Given the description of an element on the screen output the (x, y) to click on. 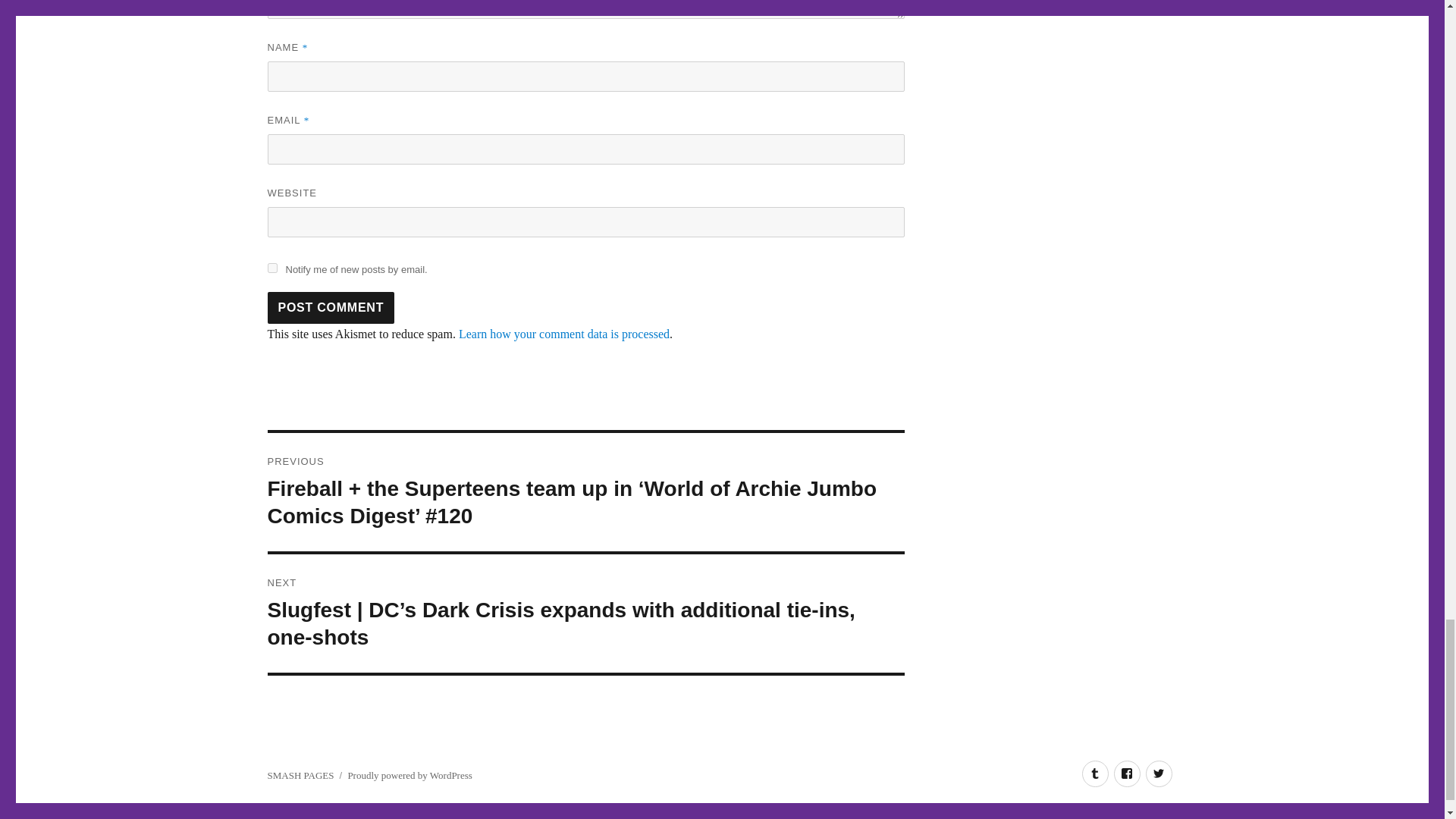
Post Comment (330, 307)
subscribe (271, 267)
Post Comment (330, 307)
